Given the description of an element on the screen output the (x, y) to click on. 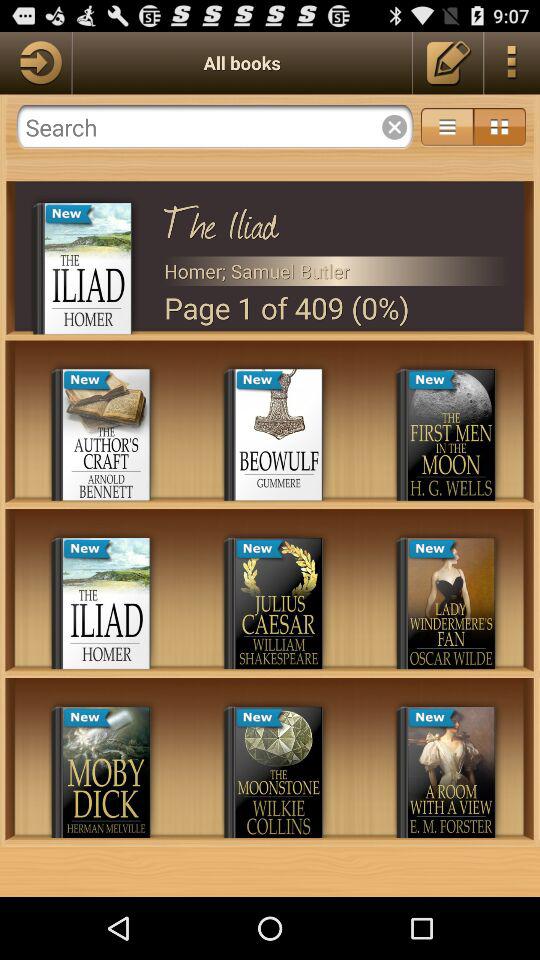
compose list (448, 62)
